Given the description of an element on the screen output the (x, y) to click on. 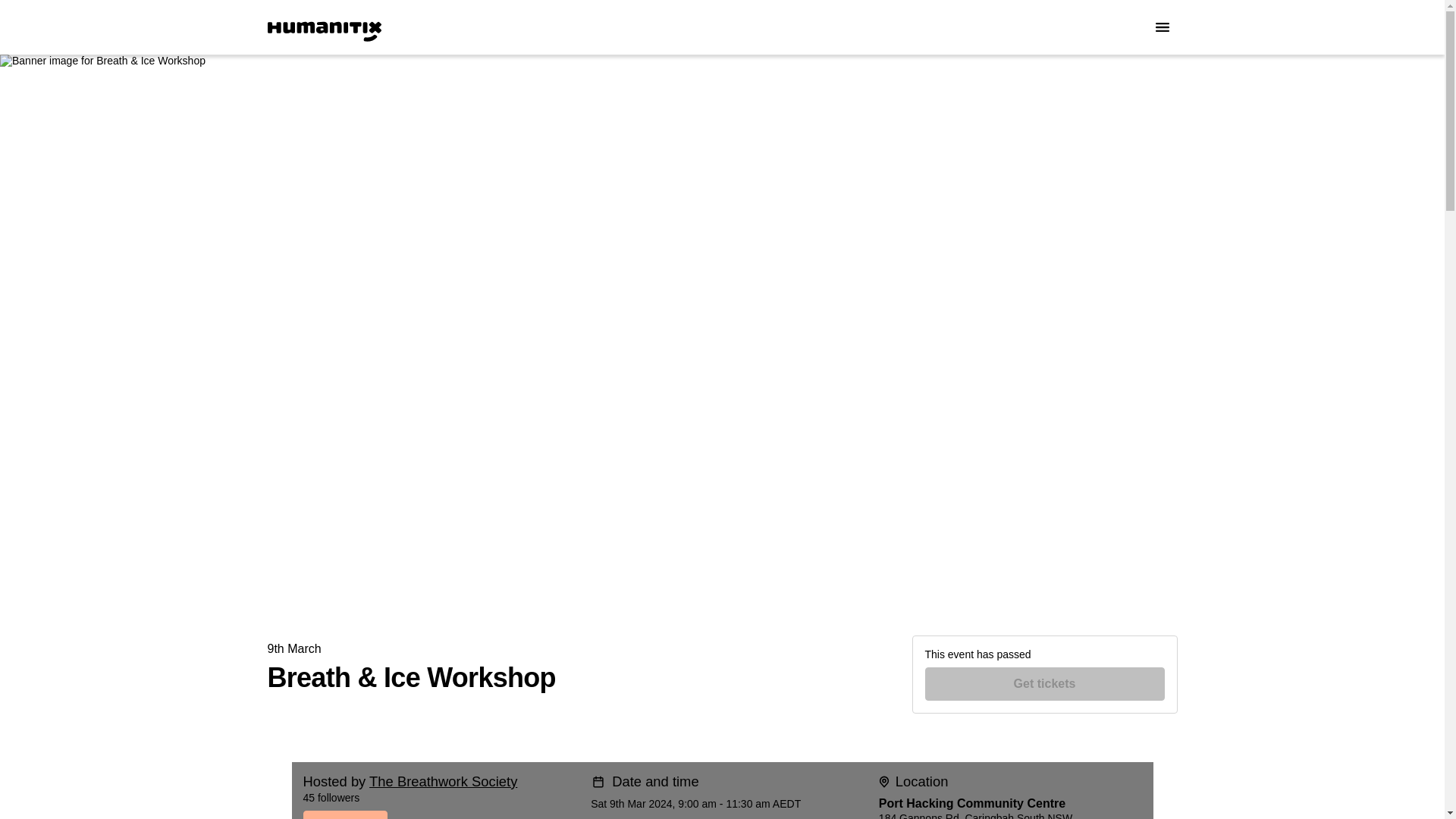
Skip to Content (18, 18)
Follow (417, 814)
The Breathwork Society (442, 781)
Get tickets (1044, 684)
